Given the description of an element on the screen output the (x, y) to click on. 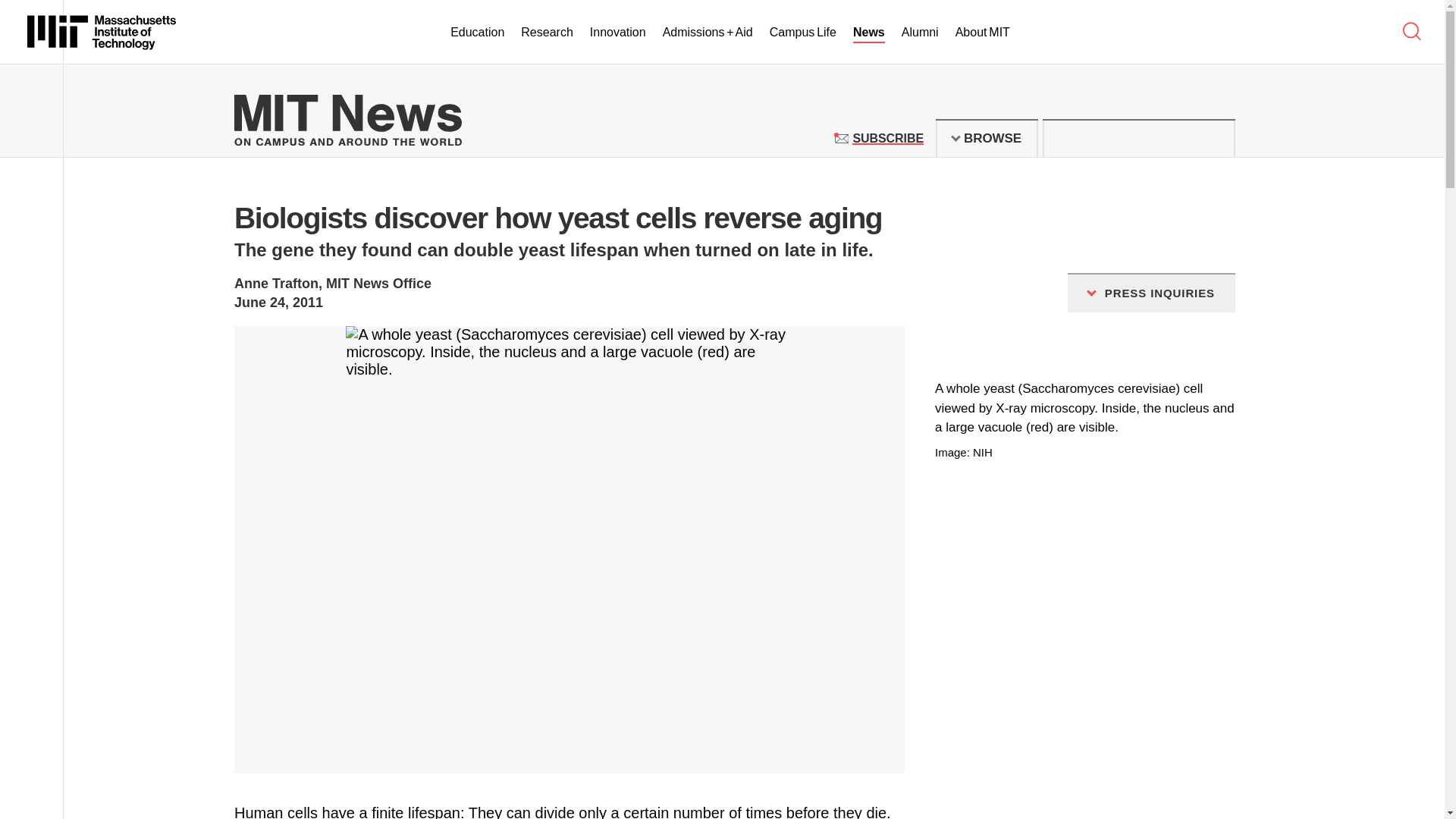
Campus Life (802, 32)
Submit (1214, 138)
Massachusetts Institute of Technology (101, 32)
BROWSE (987, 138)
